Given the description of an element on the screen output the (x, y) to click on. 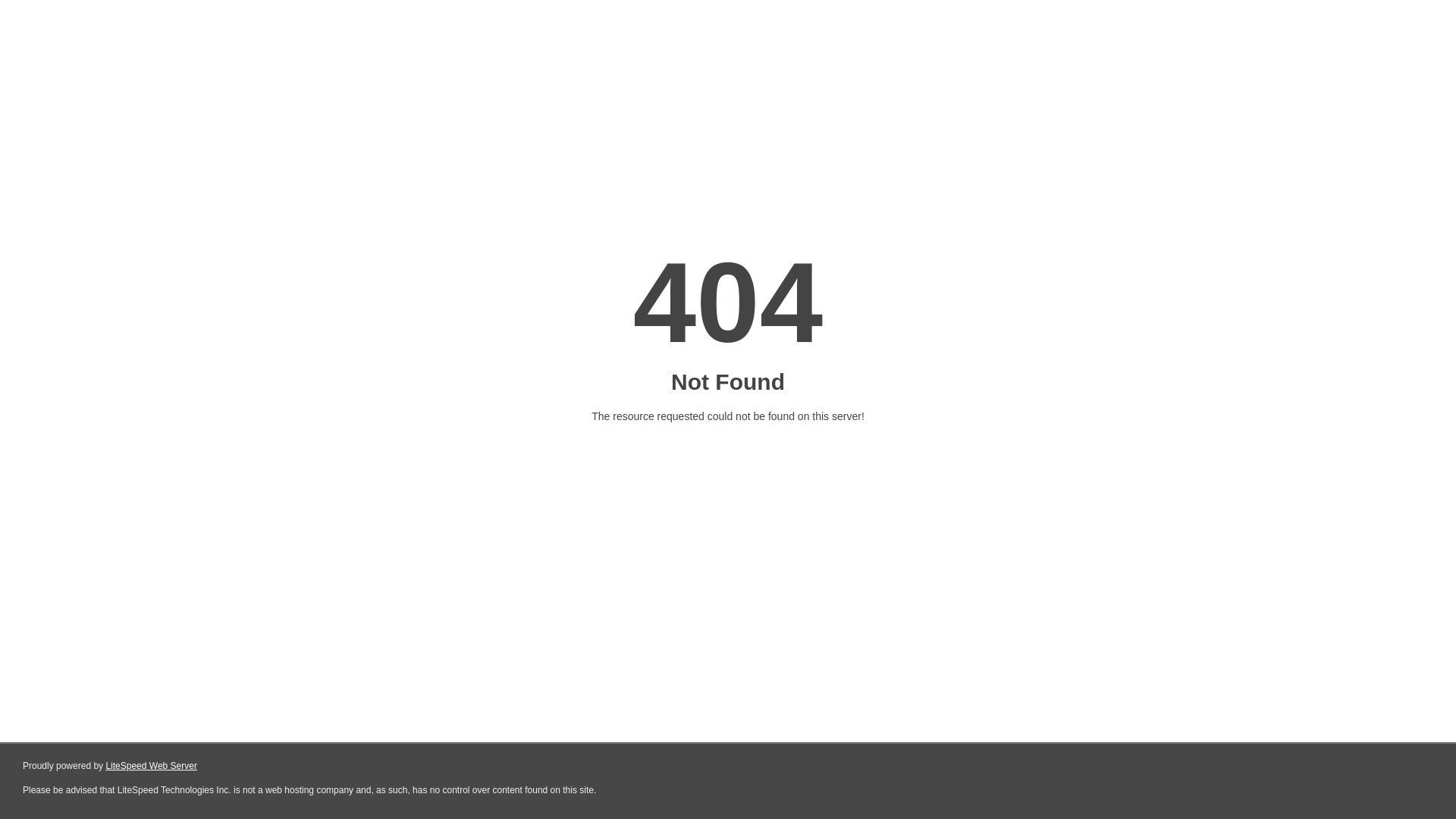
LiteSpeed Web Server Element type: text (151, 765)
